Given the description of an element on the screen output the (x, y) to click on. 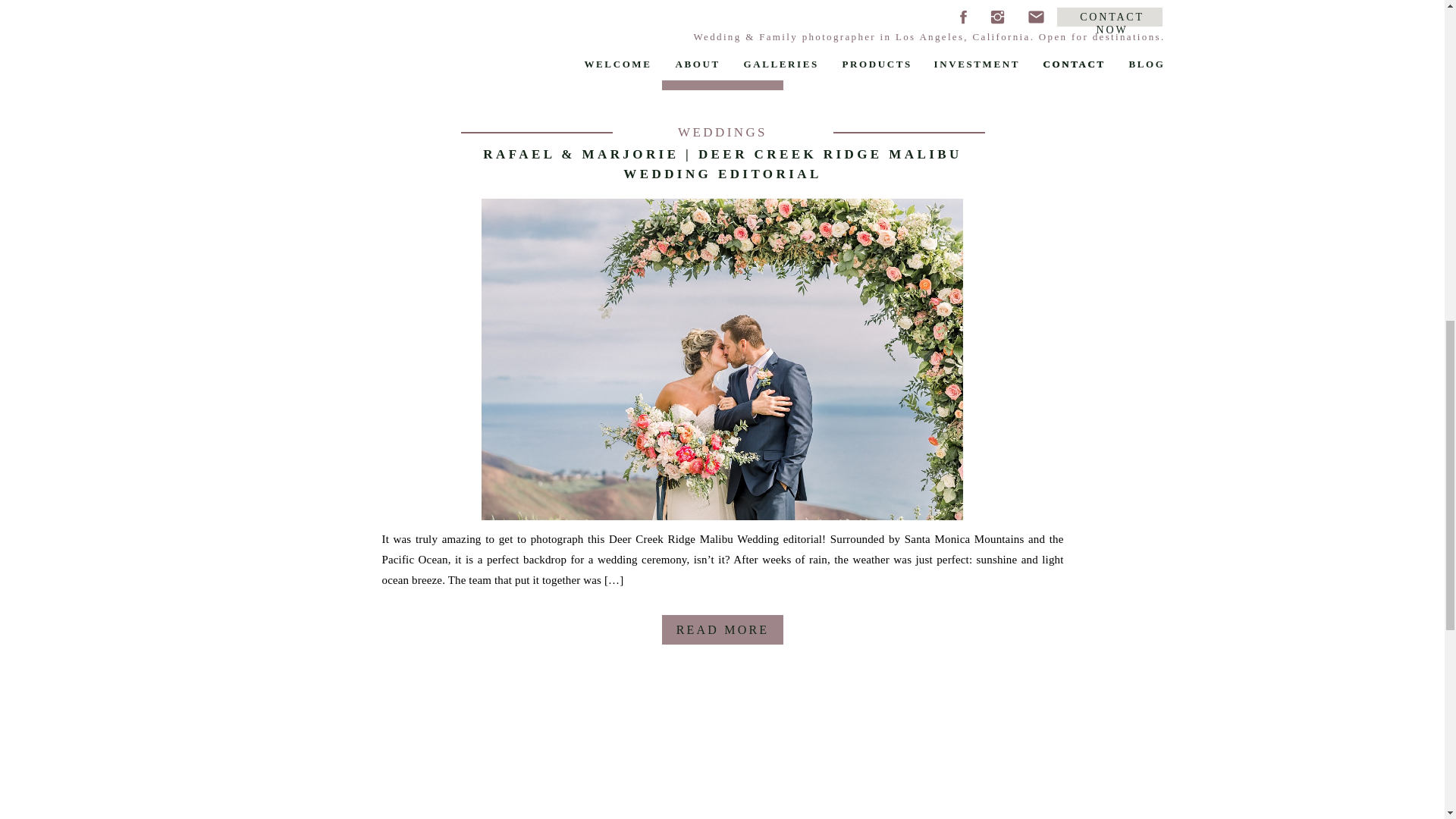
WEDDINGS (722, 132)
READ MORE (721, 636)
READ MORE (721, 81)
